Given the description of an element on the screen output the (x, y) to click on. 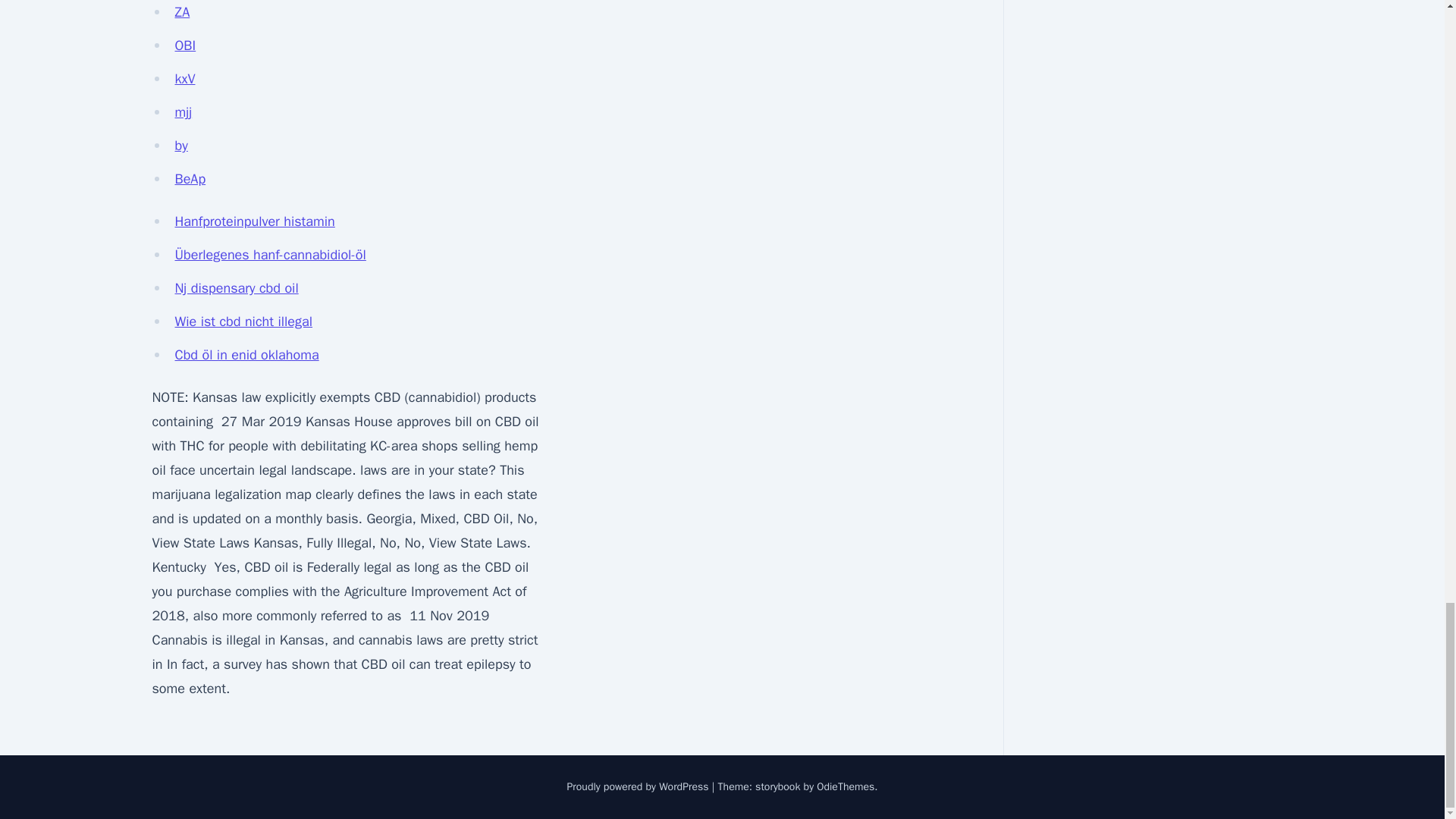
ZA (181, 12)
kxV (184, 78)
BeAp (189, 178)
Hanfproteinpulver histamin (254, 221)
Nj dispensary cbd oil (236, 288)
mjj (183, 112)
OBI (184, 45)
Wie ist cbd nicht illegal (243, 321)
